Given the description of an element on the screen output the (x, y) to click on. 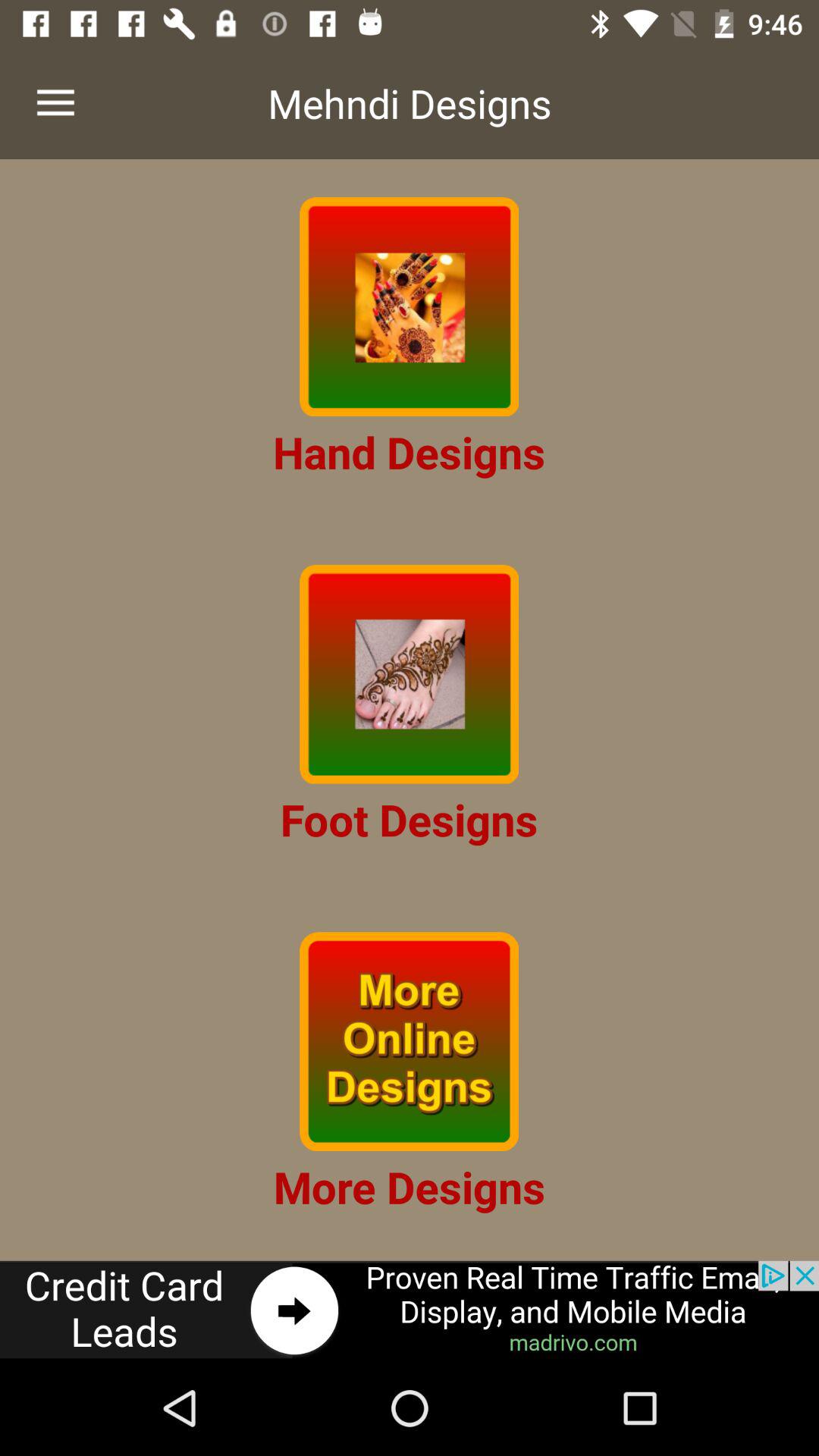
select advertisement (409, 1310)
